Given the description of an element on the screen output the (x, y) to click on. 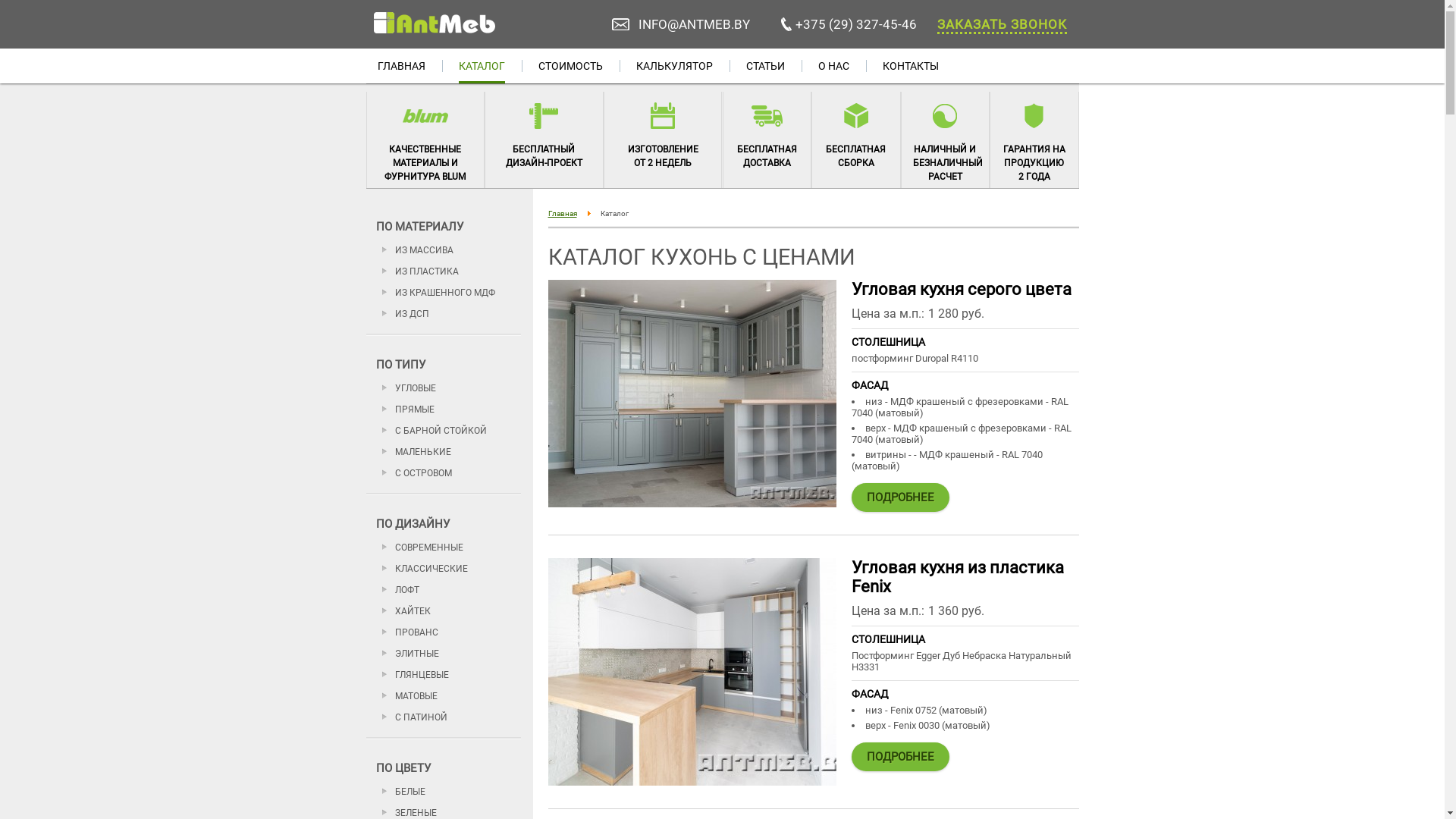
+375 (29) 327-45-46 Element type: text (855, 23)
INFO@ANTMEB.BY Element type: text (693, 23)
